Given the description of an element on the screen output the (x, y) to click on. 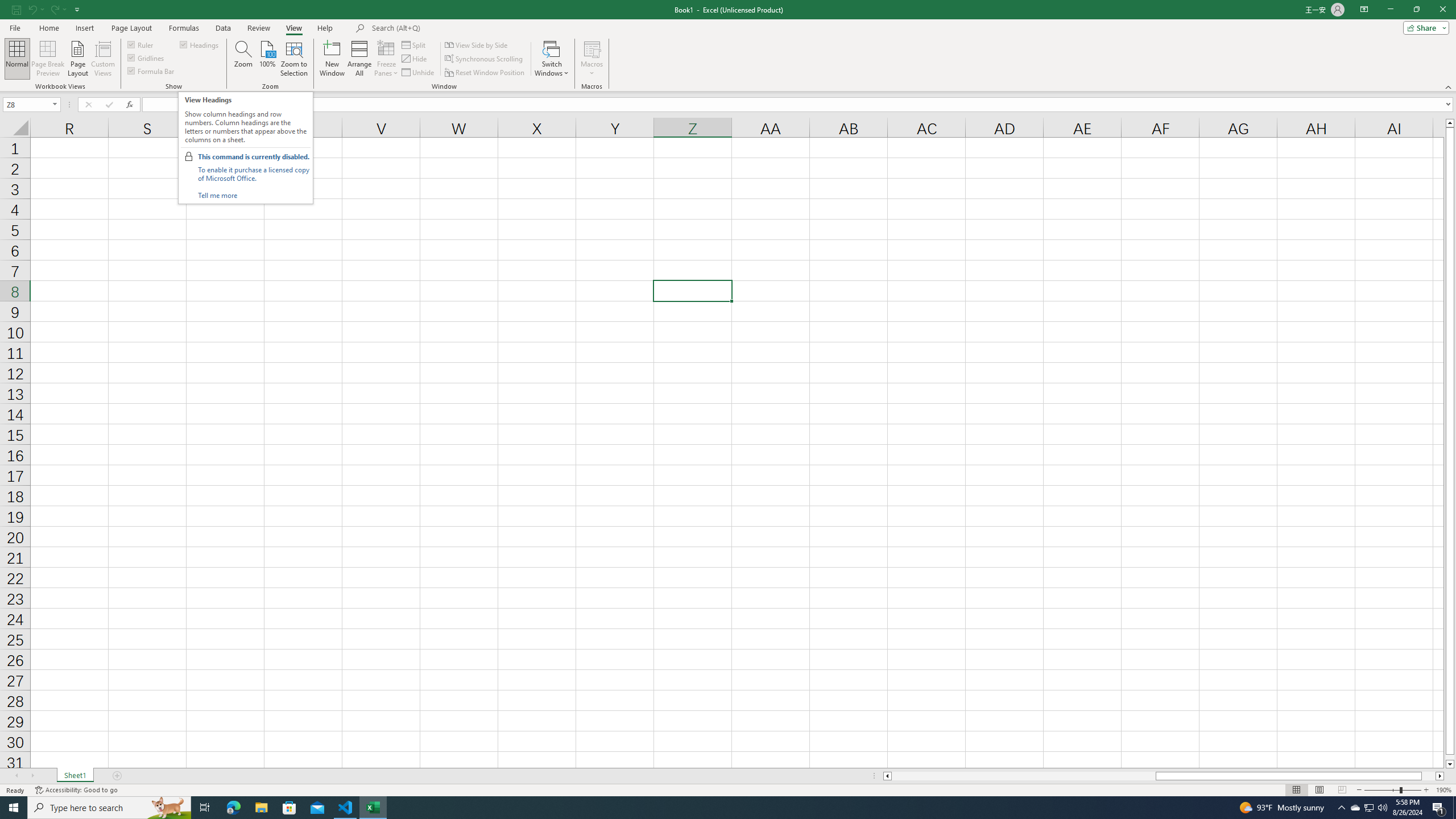
Reset Window Position (485, 72)
Switch Windows (551, 58)
Formula Bar (798, 104)
Class: MsoCommandBar (728, 45)
Zoom... (242, 58)
View Side by Side (476, 44)
